Given the description of an element on the screen output the (x, y) to click on. 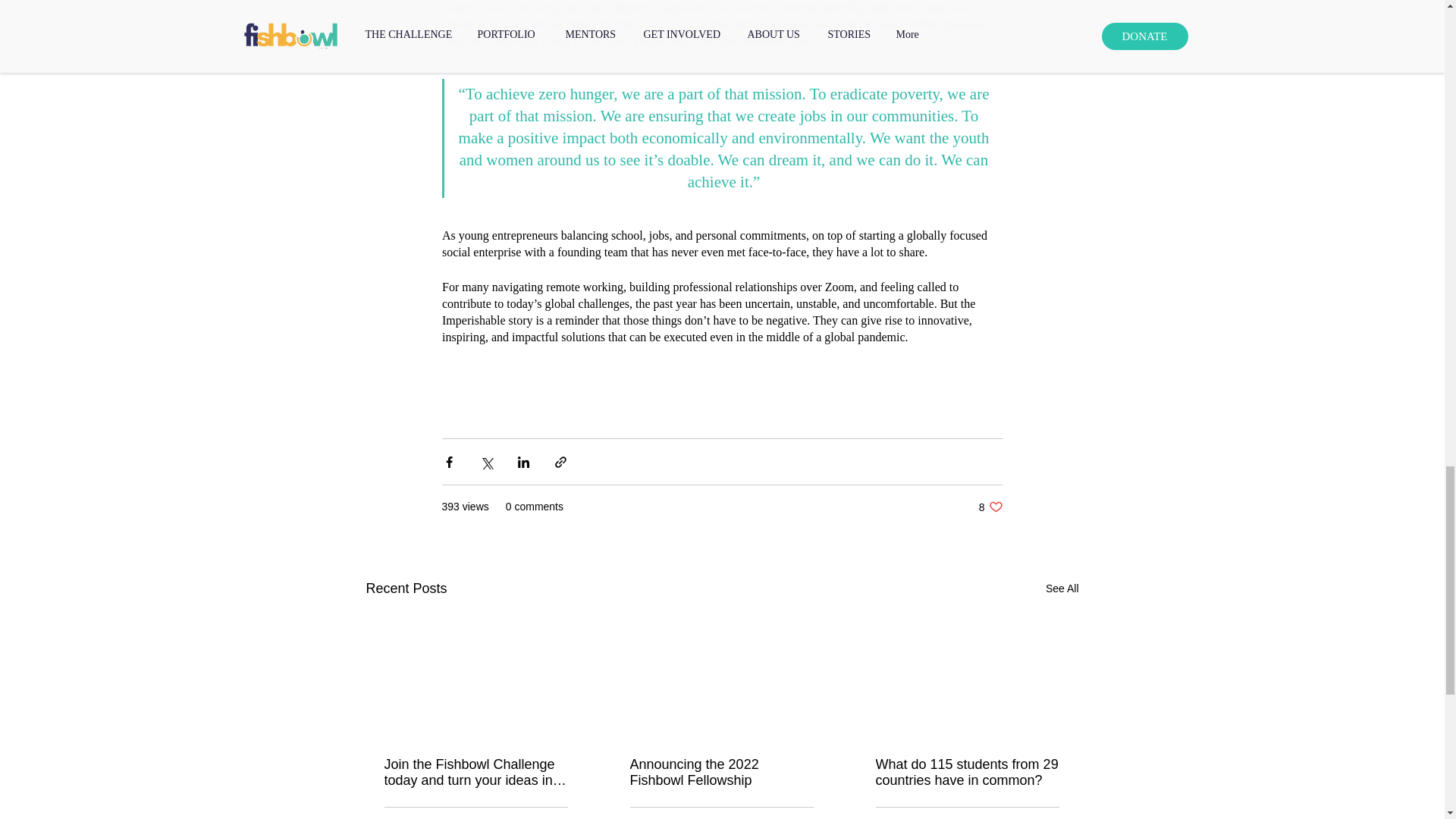
Post not marked as liked (990, 506)
What do 115 students from 29 countries have in common? (720, 772)
See All (966, 772)
Post not marked as liked (1061, 588)
